Given the description of an element on the screen output the (x, y) to click on. 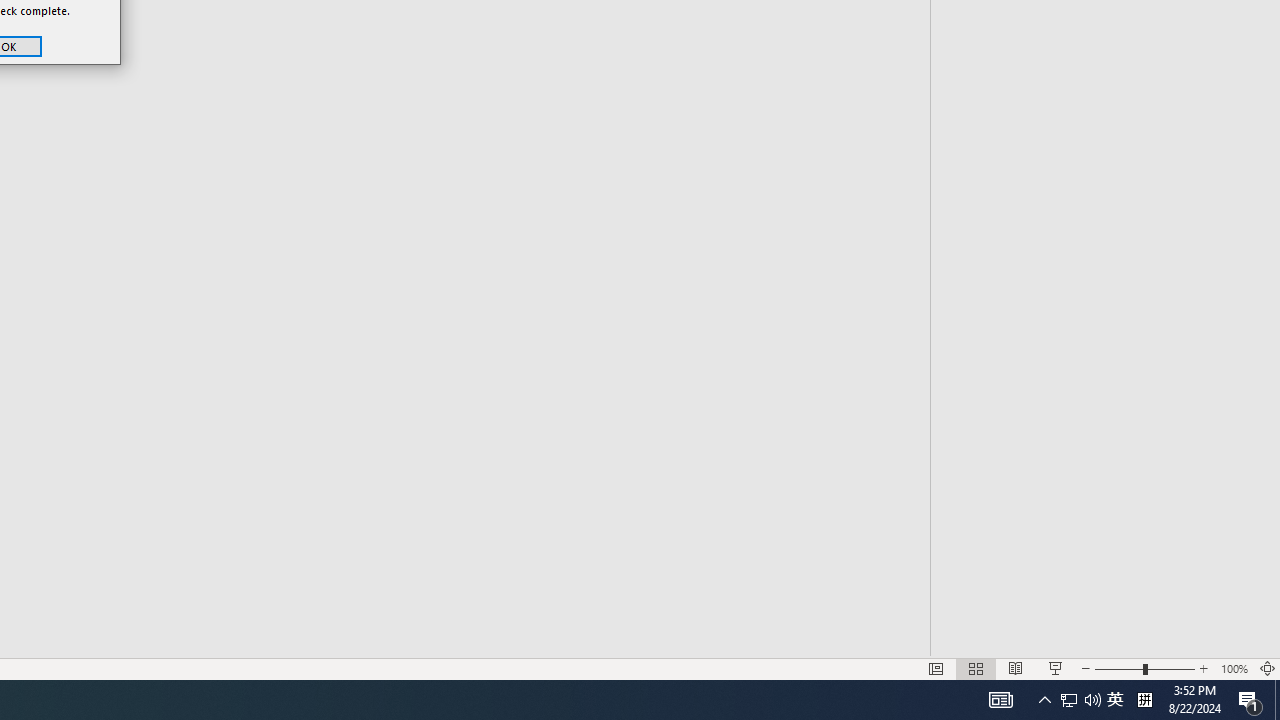
Read Mode (864, 640)
Web Layout (984, 640)
OK (207, 176)
Notion (333, 687)
Class: Image (965, 687)
Zoom (1116, 640)
Print Layout (924, 640)
Update automatically (192, 132)
Zoom 140% (1249, 640)
